Given the description of an element on the screen output the (x, y) to click on. 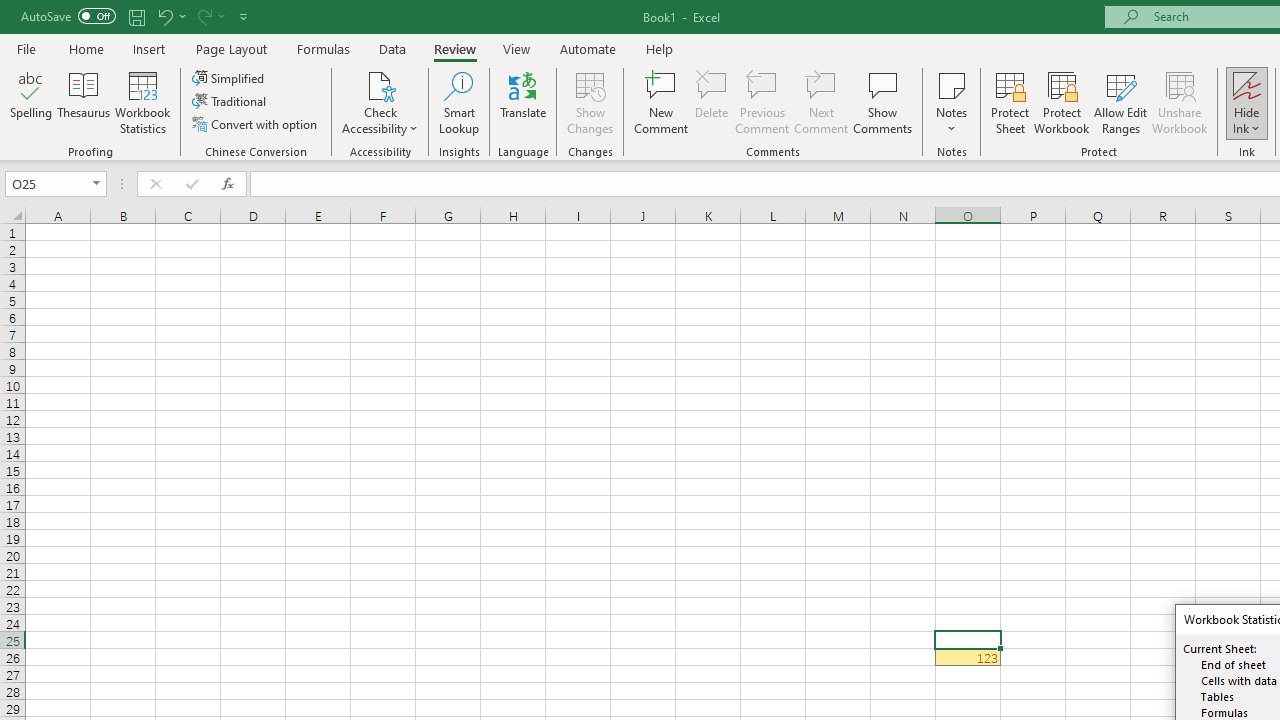
Spelling... (31, 102)
Redo (203, 15)
Page Layout (230, 48)
